Given the description of an element on the screen output the (x, y) to click on. 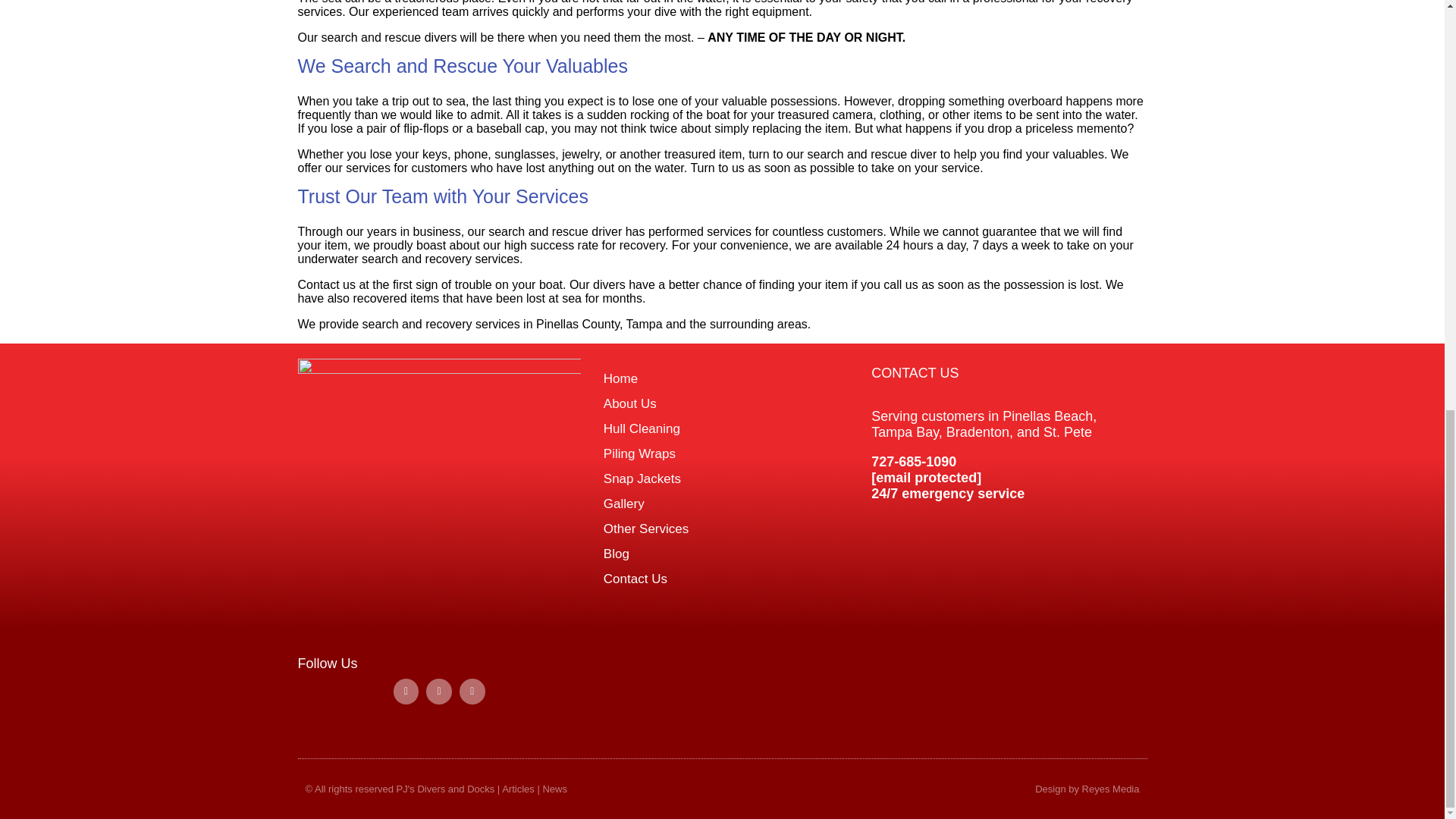
Snap Jackets (722, 478)
Other Services (722, 528)
About Us (722, 403)
Gallery (722, 503)
Hull Cleaning (722, 428)
Home (722, 378)
Piling Wraps (722, 453)
